Given the description of an element on the screen output the (x, y) to click on. 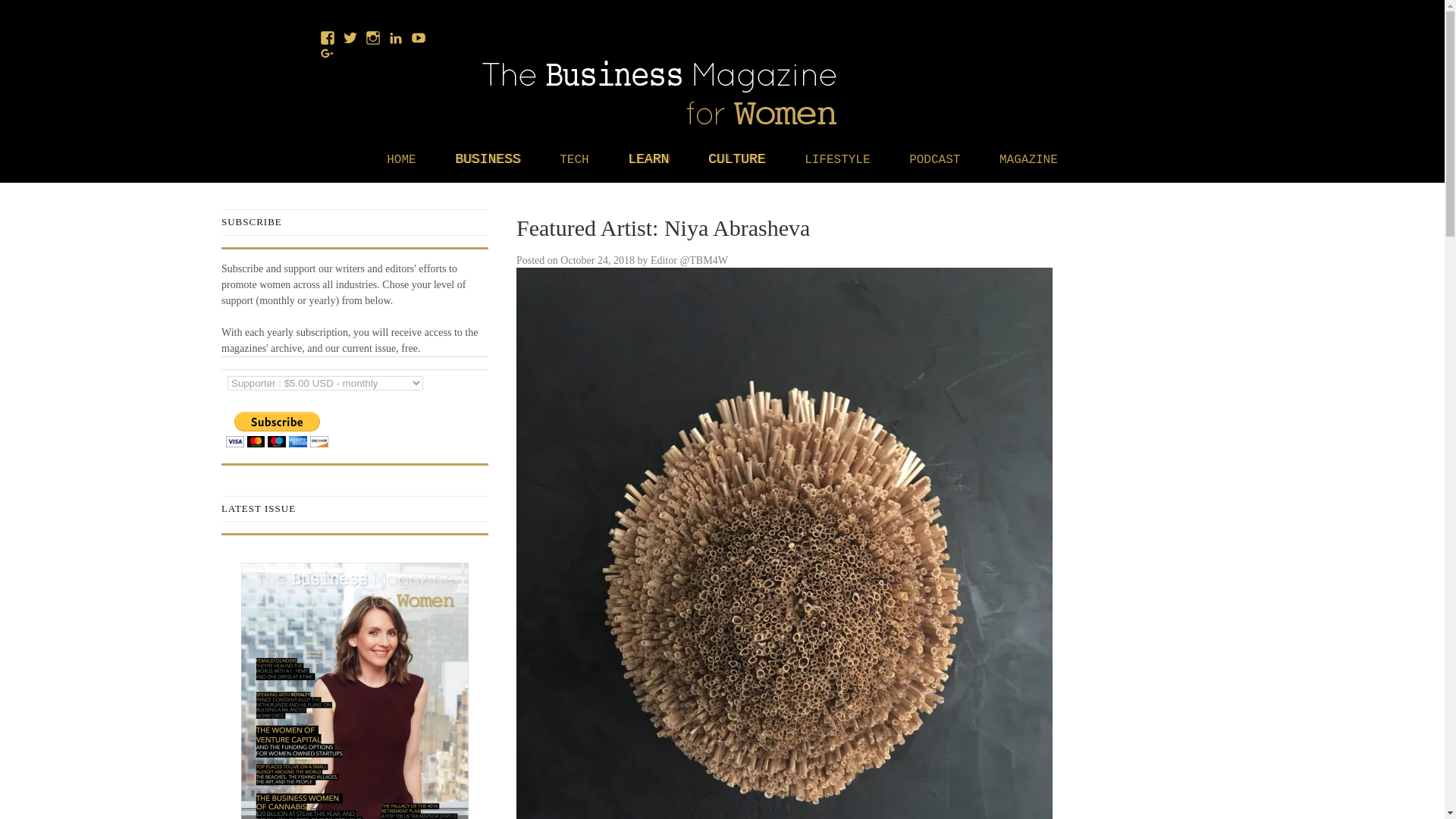
LEARN (647, 159)
CULTURE (736, 159)
BUSINESS (486, 159)
MAGAZINE (1028, 159)
TECH (573, 159)
LIFESTYLE (837, 159)
PODCAST (933, 159)
HOME (400, 159)
